Given the description of an element on the screen output the (x, y) to click on. 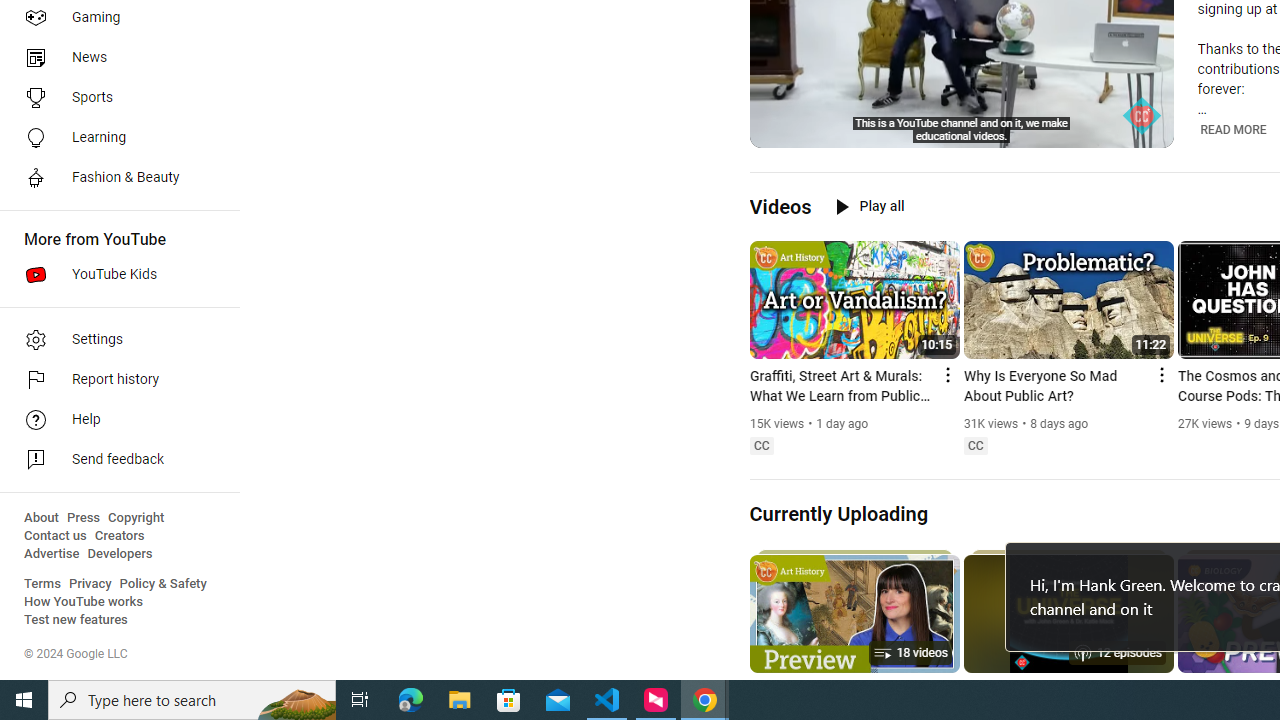
Copyright (136, 518)
Report history (113, 380)
How YouTube works (83, 602)
Fashion & Beauty (113, 177)
Advertise (51, 554)
Pause (k) (779, 130)
Mute (m) (815, 130)
Subtitles/closed captions unavailable (1071, 130)
Creators (118, 536)
Developers (120, 554)
Channel watermark (1141, 115)
Seek slider (961, 109)
Sports (113, 97)
Learning (113, 137)
Channel watermark (1141, 115)
